Given the description of an element on the screen output the (x, y) to click on. 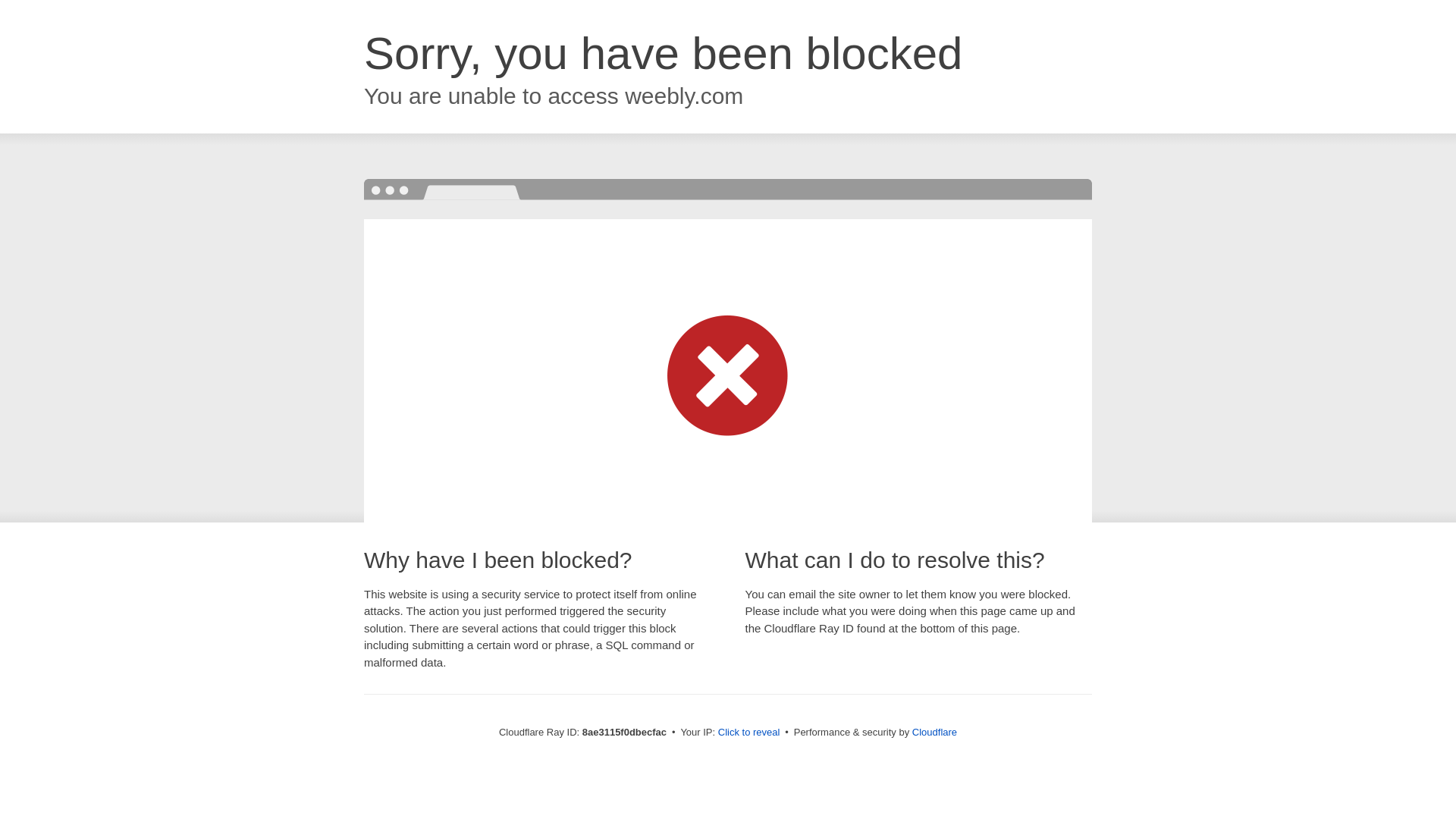
Click to reveal (748, 732)
Cloudflare (934, 731)
